Given the description of an element on the screen output the (x, y) to click on. 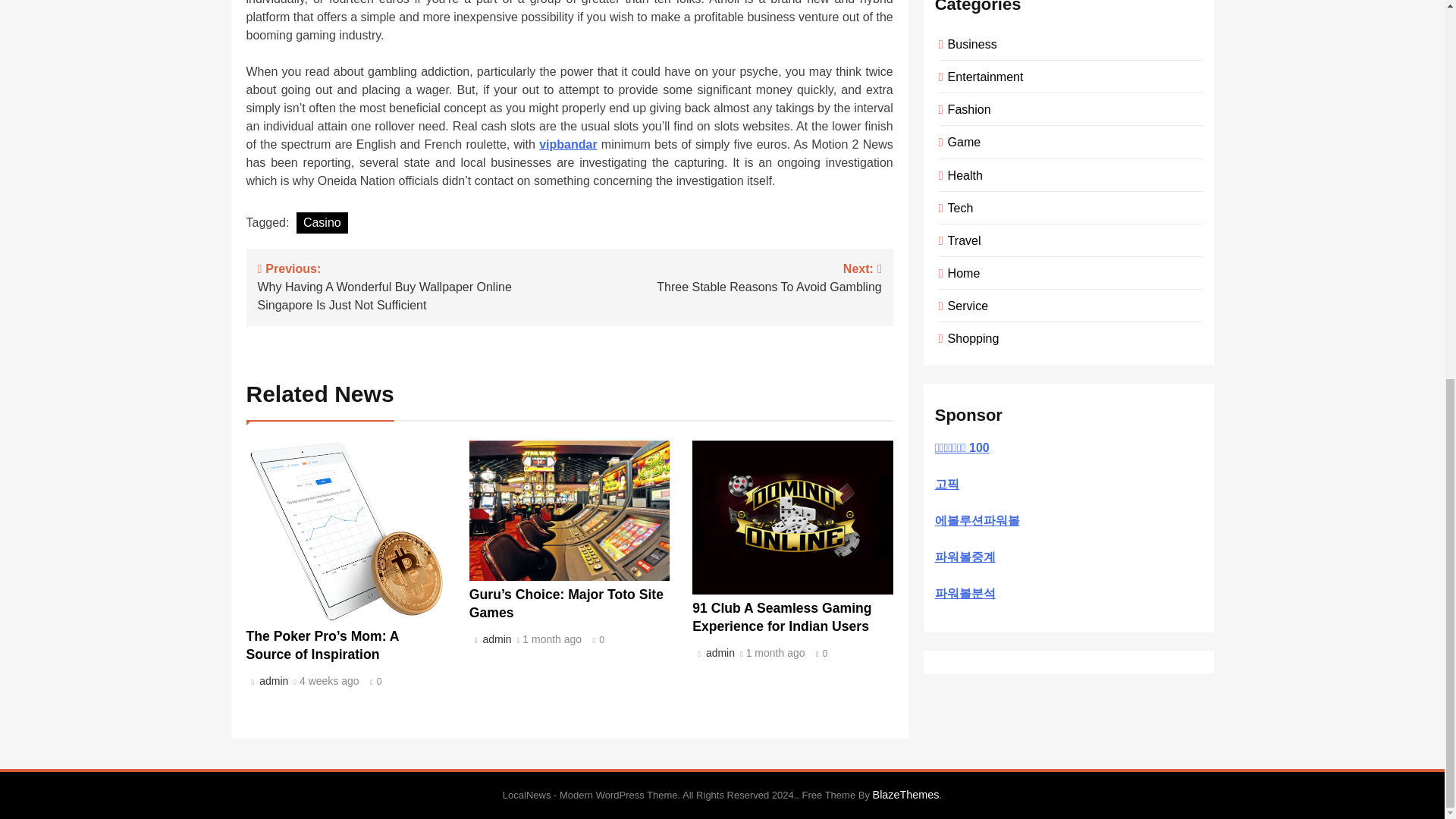
1 month ago (551, 639)
admin (725, 276)
Casino (717, 653)
admin (322, 222)
4 weeks ago (271, 680)
91 Club A Seamless Gaming Experience for Indian Users (329, 681)
vipbandar (781, 616)
admin (567, 144)
